Given the description of an element on the screen output the (x, y) to click on. 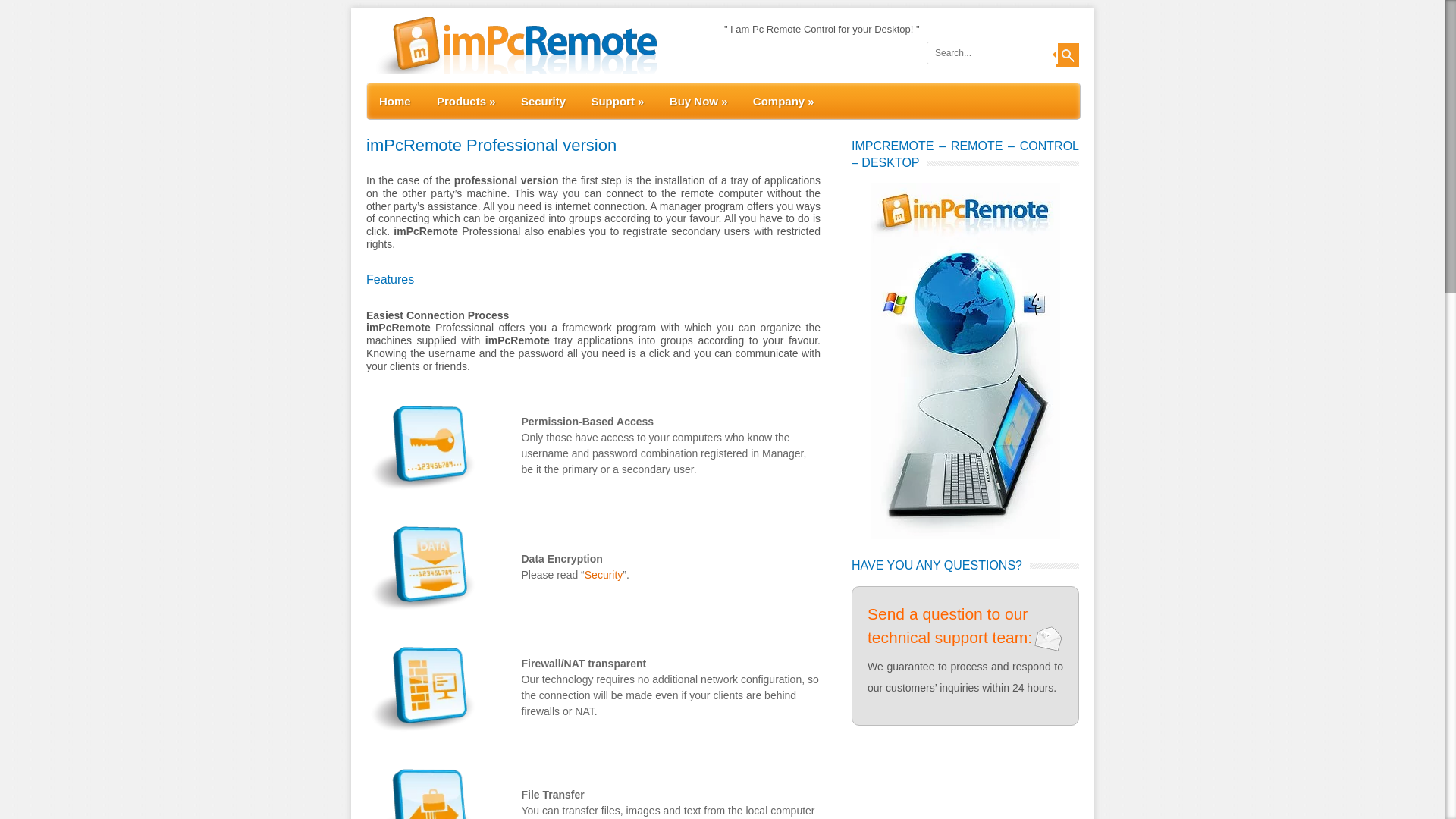
Security (537, 101)
Support (611, 101)
Skip to content (396, 87)
Security (604, 574)
imPcRemote (512, 69)
Search (1067, 54)
Skip to content (396, 87)
Buy Now (693, 101)
Home (389, 100)
Search (1067, 54)
Products (460, 101)
Company (777, 101)
